Given the description of an element on the screen output the (x, y) to click on. 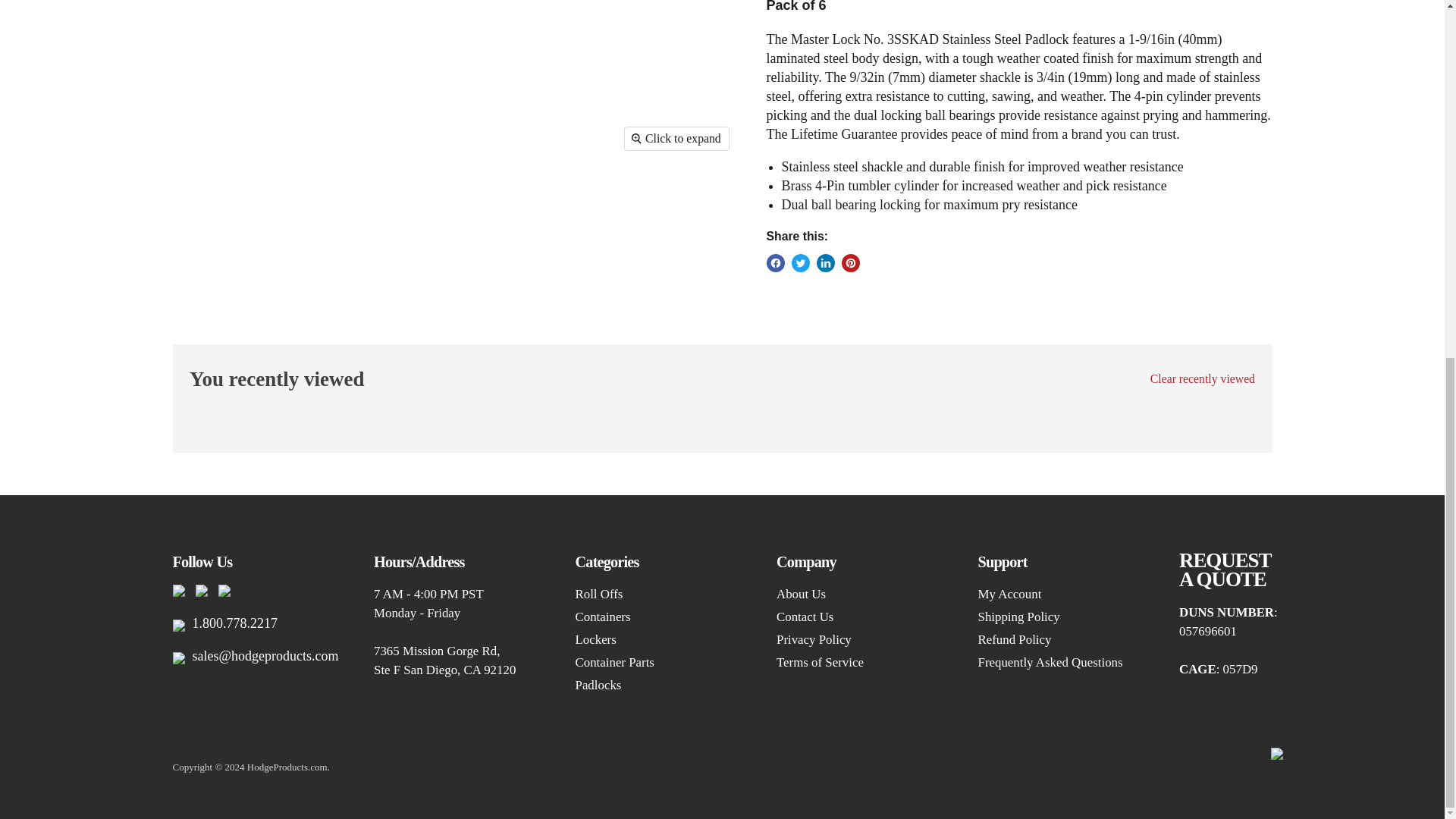
Contact Us (1225, 569)
